Given the description of an element on the screen output the (x, y) to click on. 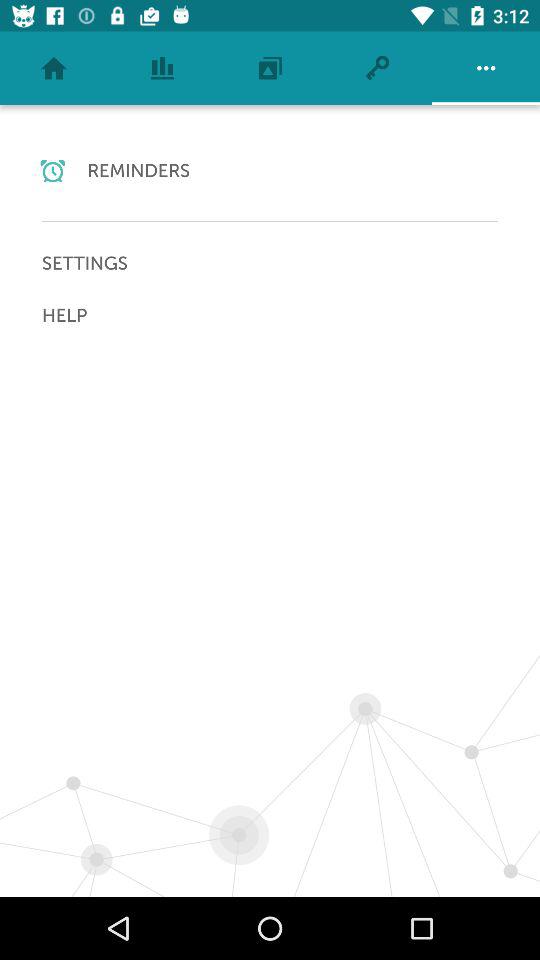
open the item above the help icon (270, 263)
